Given the description of an element on the screen output the (x, y) to click on. 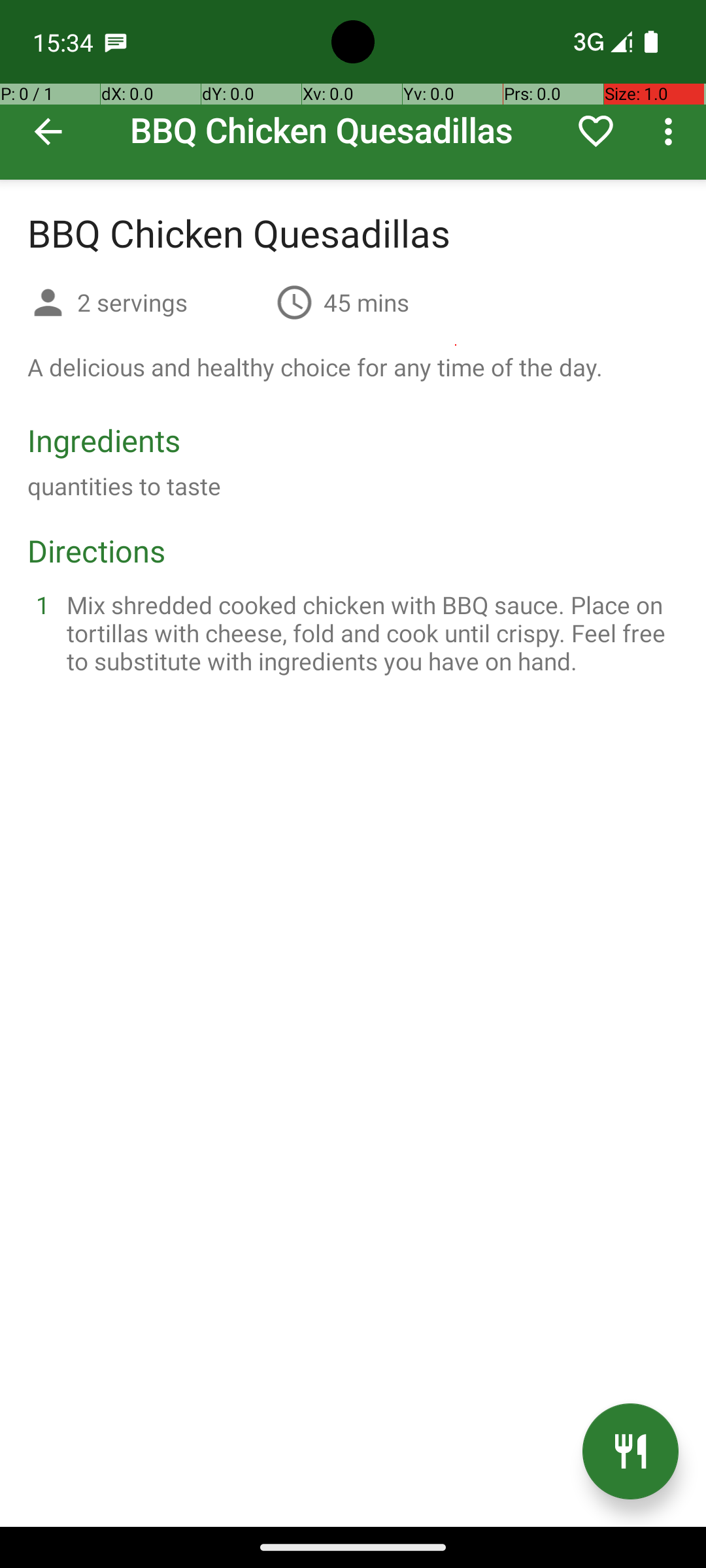
Mix shredded cooked chicken with BBQ sauce. Place on tortillas with cheese, fold and cook until crispy. Feel free to substitute with ingredients you have on hand. Element type: android.widget.TextView (368, 632)
